Given the description of an element on the screen output the (x, y) to click on. 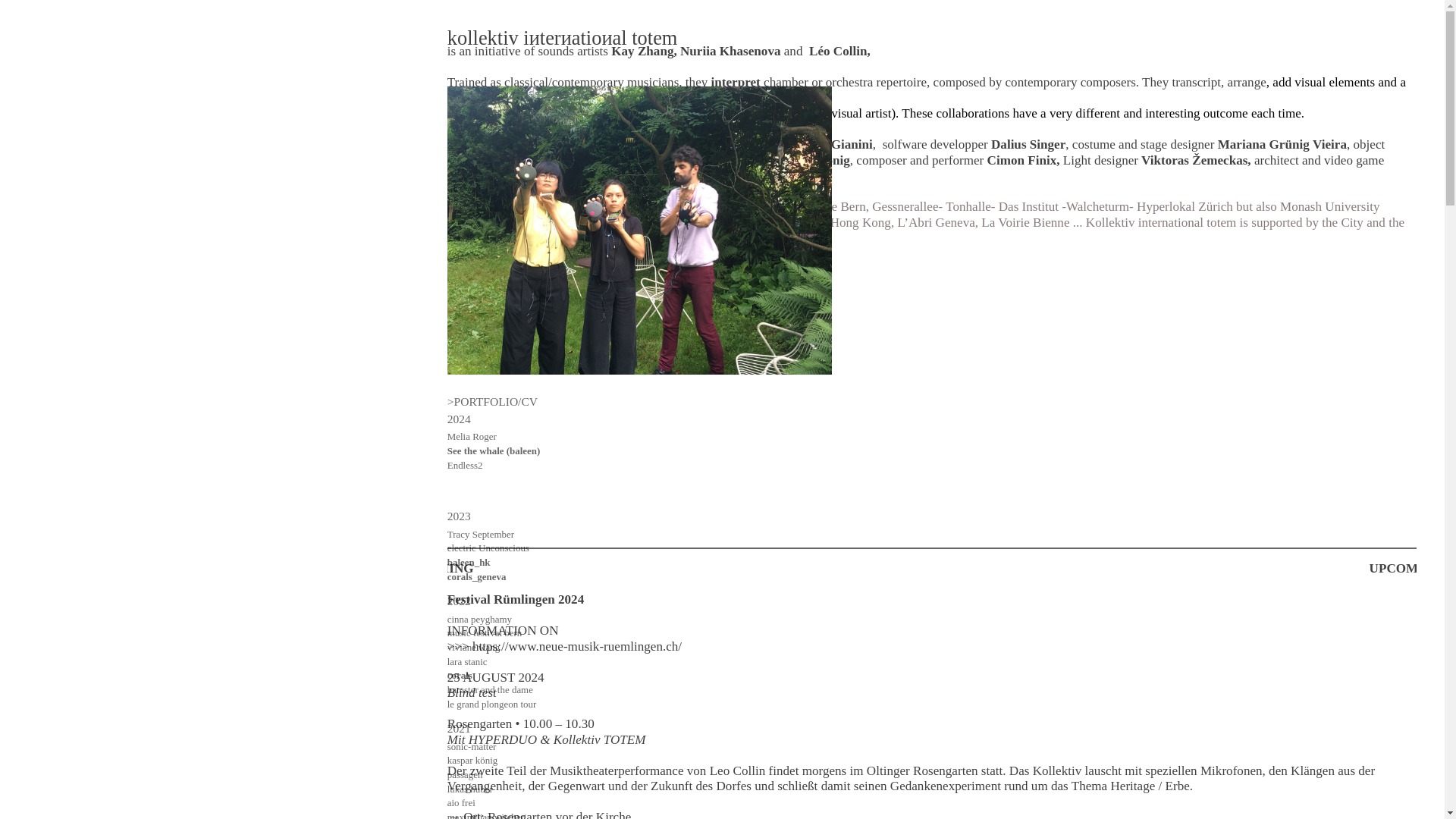
corals (458, 674)
aio frei (461, 802)
racy September (482, 533)
le grand plongeon tour (491, 704)
sonic-matter (471, 746)
lukas huber (469, 788)
hamster and the dame (489, 689)
YouTube video player (931, 396)
Melia Roger (471, 436)
cinna peyghamy (479, 618)
passagen (464, 774)
music festival bern (483, 632)
viviane wang (472, 646)
Endless (461, 464)
electric Unconscious (487, 547)
